Given the description of an element on the screen output the (x, y) to click on. 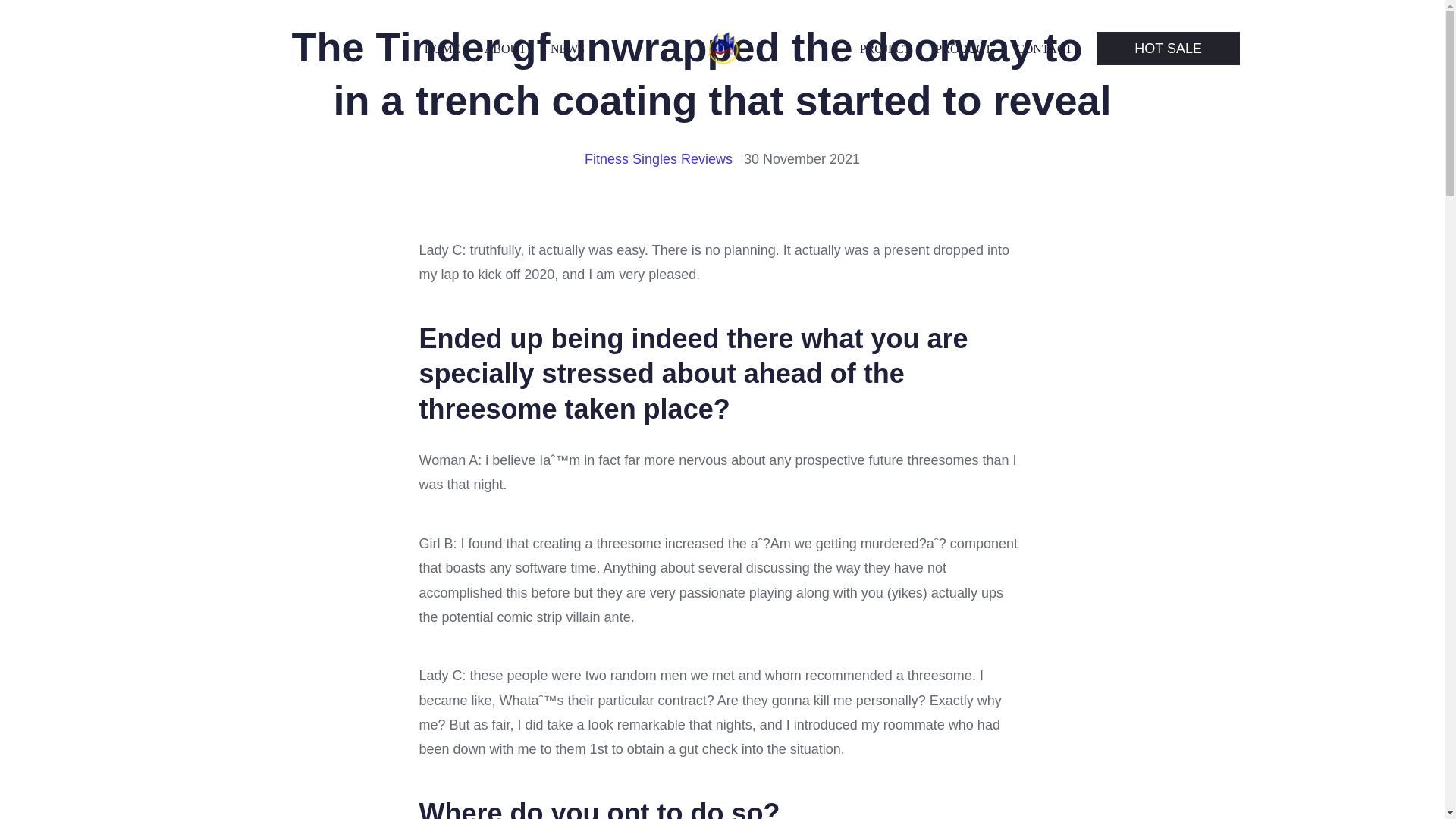
PROJECT (885, 49)
ABOUT (504, 49)
HOME (442, 49)
NEWS (567, 49)
Cari (50, 16)
